Given the description of an element on the screen output the (x, y) to click on. 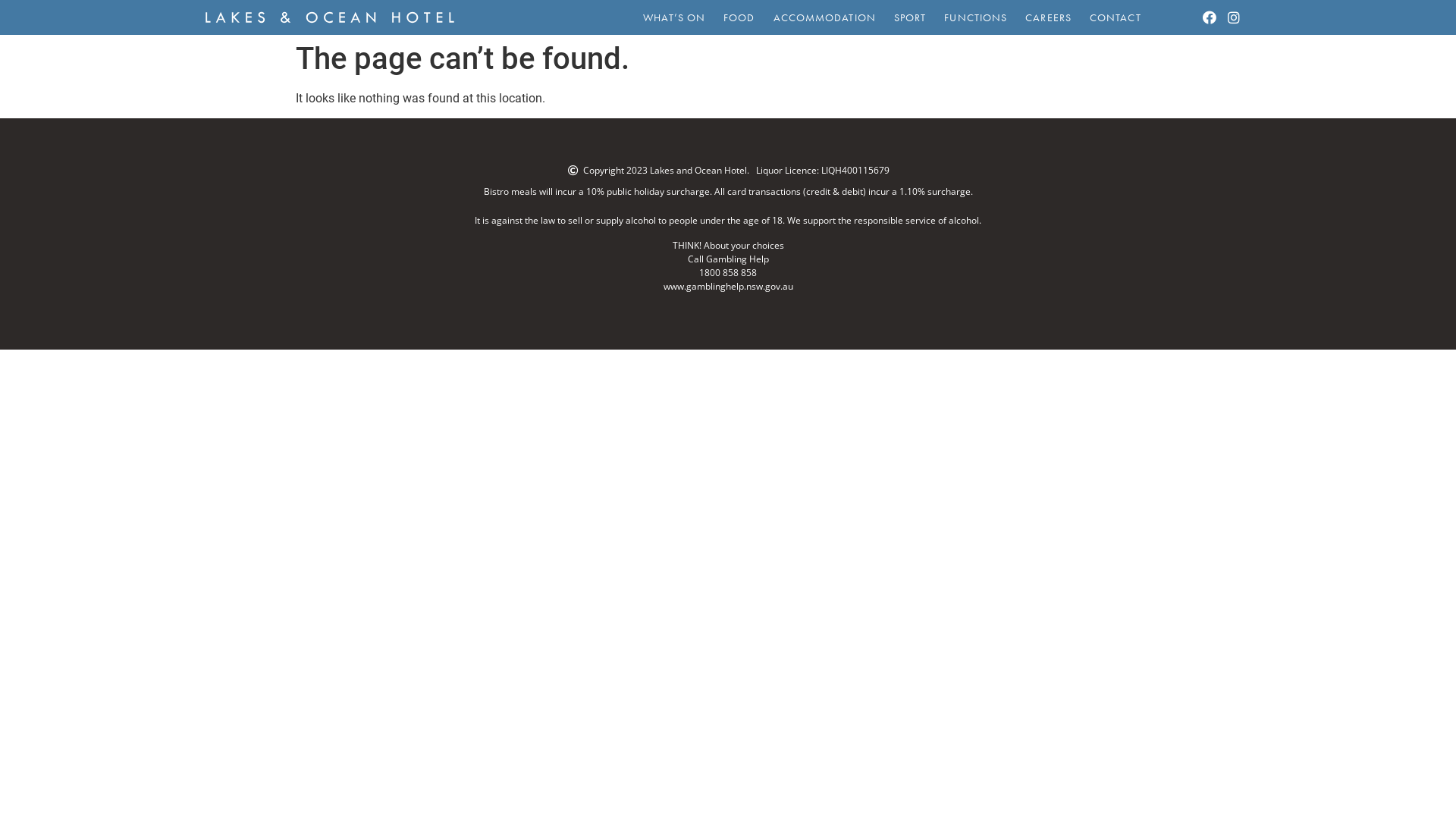
SPORT Element type: text (909, 17)
CONTACT Element type: text (1115, 17)
CAREERS Element type: text (1048, 17)
ACCOMMODATION Element type: text (824, 17)
FOOD Element type: text (738, 17)
FUNCTIONS Element type: text (975, 17)
